Given the description of an element on the screen output the (x, y) to click on. 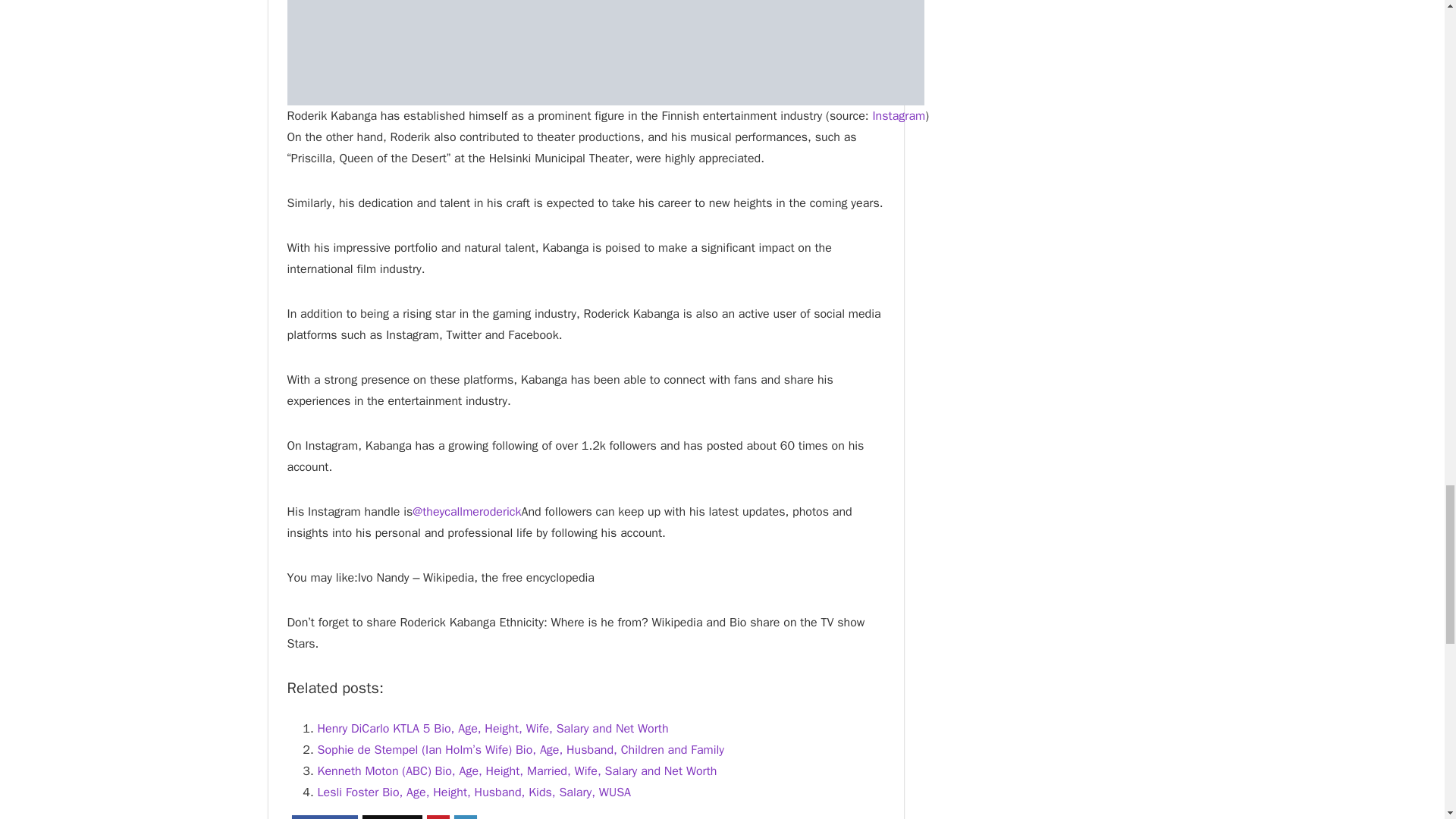
Instagram (898, 115)
Lesli Foster Bio, Age, Height, Husband, Kids, Salary, WUSA (473, 792)
Lesli Foster Bio, Age, Height, Husband, Kids, Salary, WUSA (473, 792)
